Given the description of an element on the screen output the (x, y) to click on. 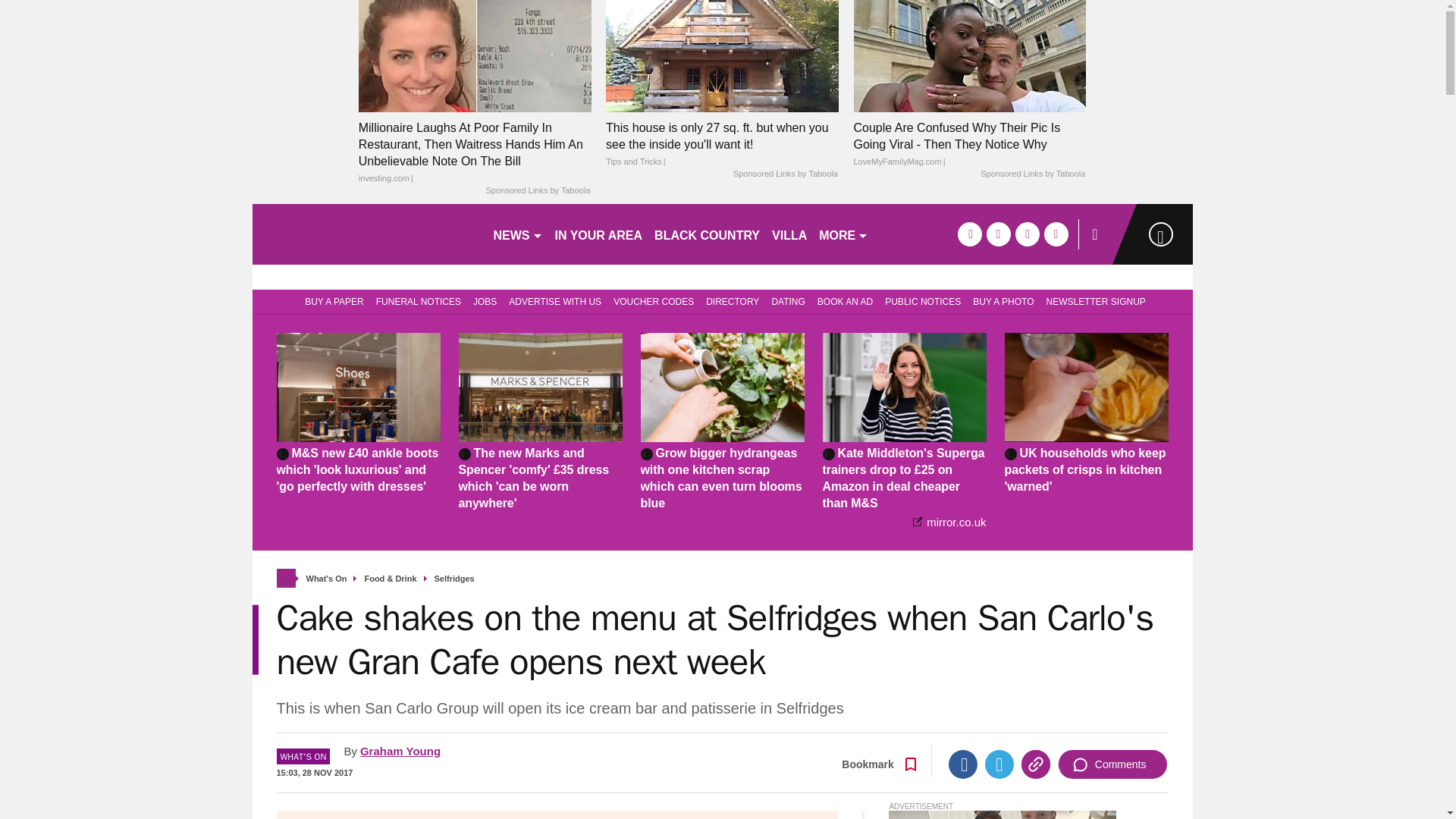
IN YOUR AREA (598, 233)
birminghammail (365, 233)
instagram (1055, 233)
Twitter (999, 764)
Sponsored Links by Taboola (785, 174)
NEWS (517, 233)
Facebook (962, 764)
MORE (843, 233)
twitter (997, 233)
tiktok (1026, 233)
Sponsored Links by Taboola (536, 190)
